Given the description of an element on the screen output the (x, y) to click on. 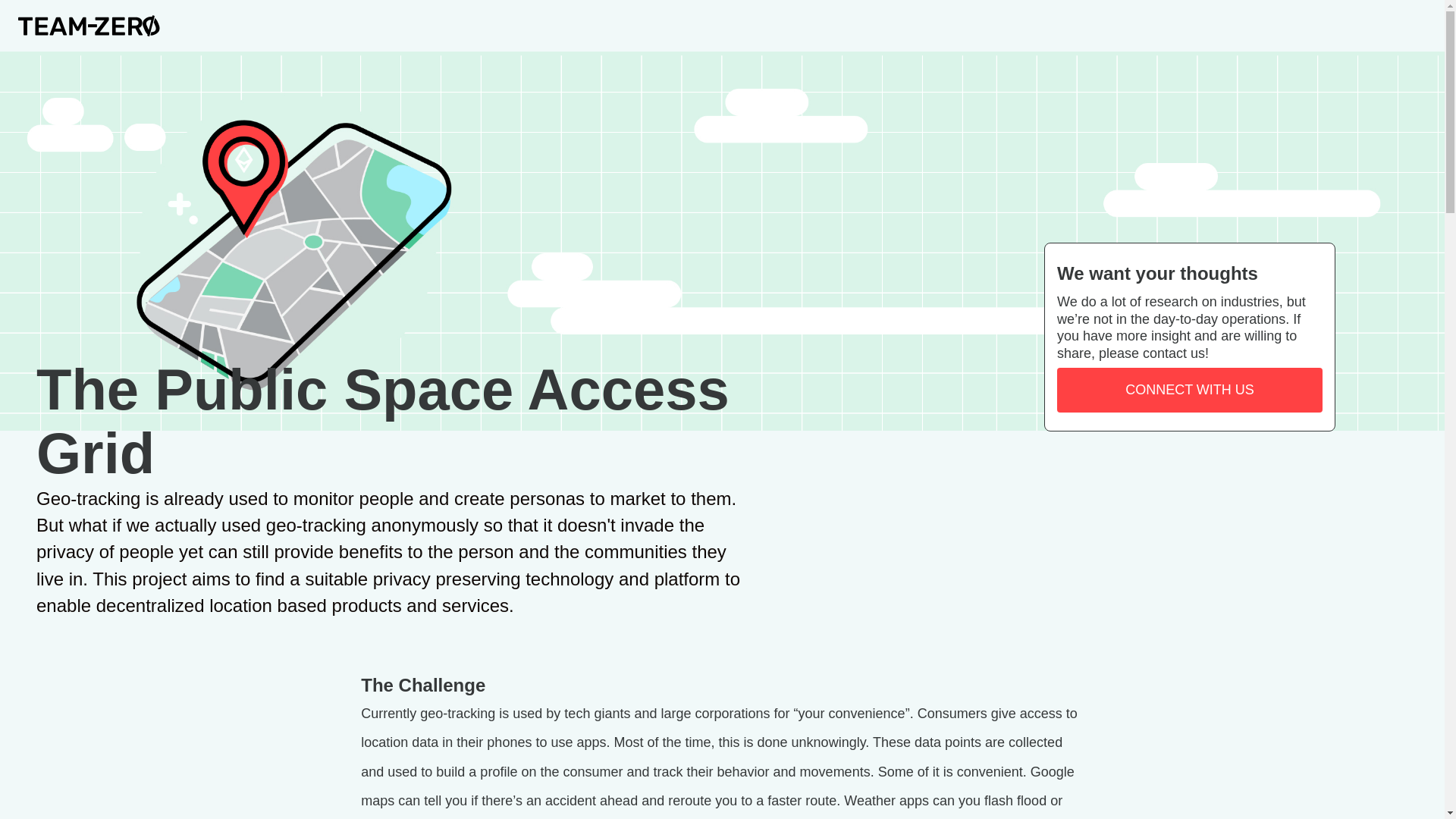
CONNECT WITH US (1189, 389)
CONNECT WITH US (1189, 389)
